Given the description of an element on the screen output the (x, y) to click on. 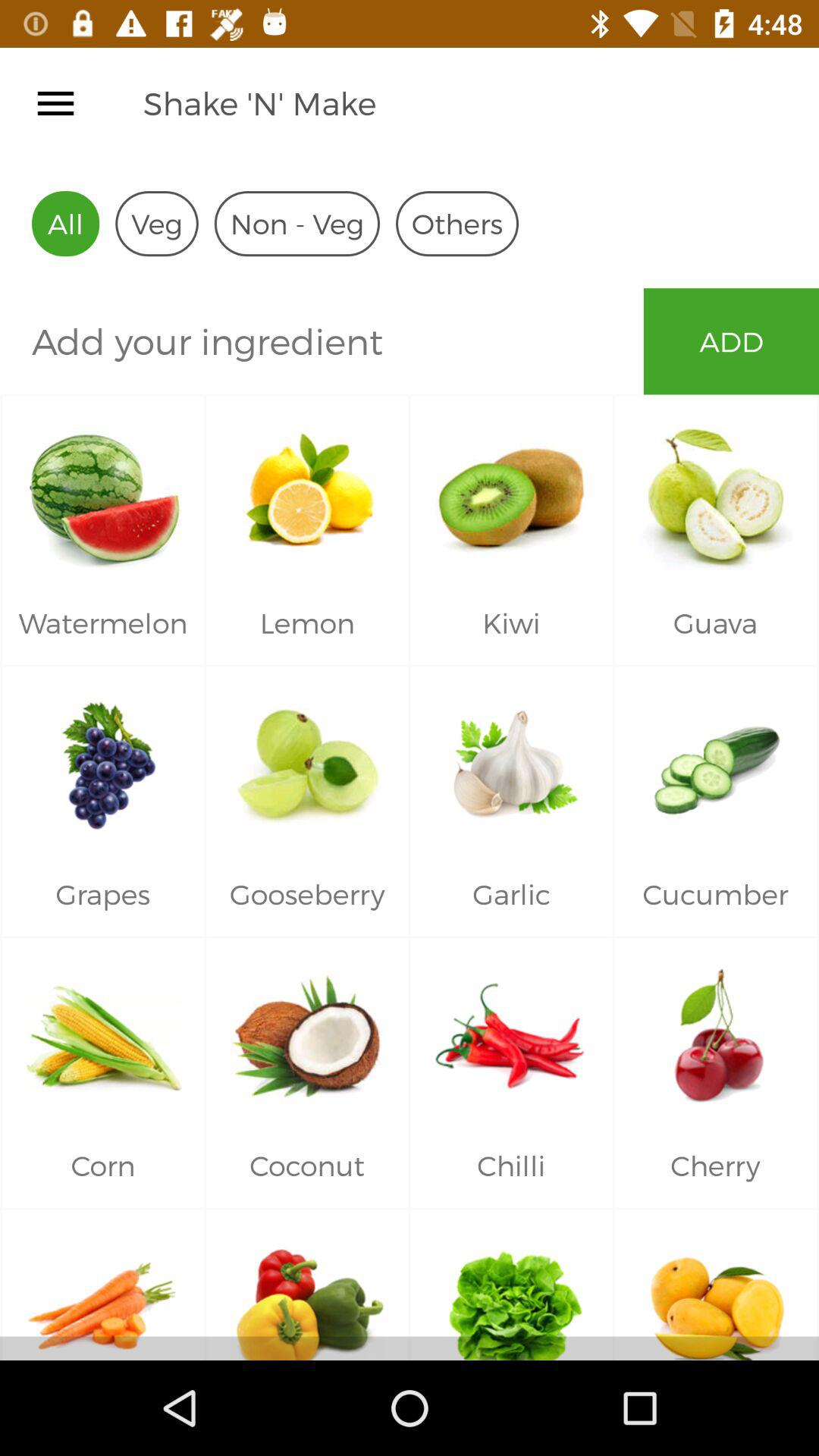
turn on others icon (456, 223)
